Given the description of an element on the screen output the (x, y) to click on. 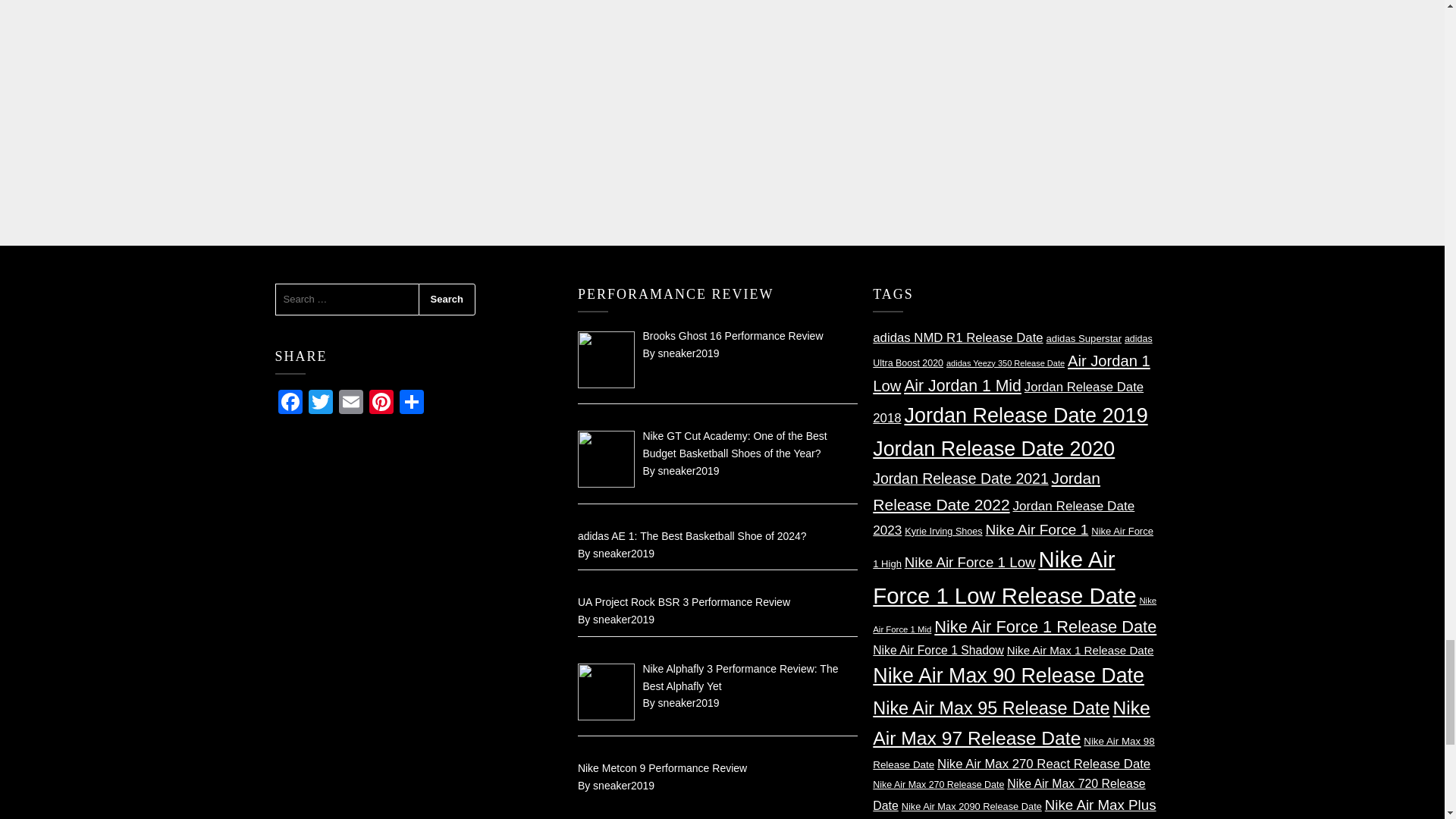
Search (447, 299)
Twitter (319, 403)
Search (447, 299)
Email (349, 403)
Search (447, 299)
Facebook (289, 403)
Twitter (319, 403)
Facebook (289, 403)
Pinterest (380, 403)
